Given the description of an element on the screen output the (x, y) to click on. 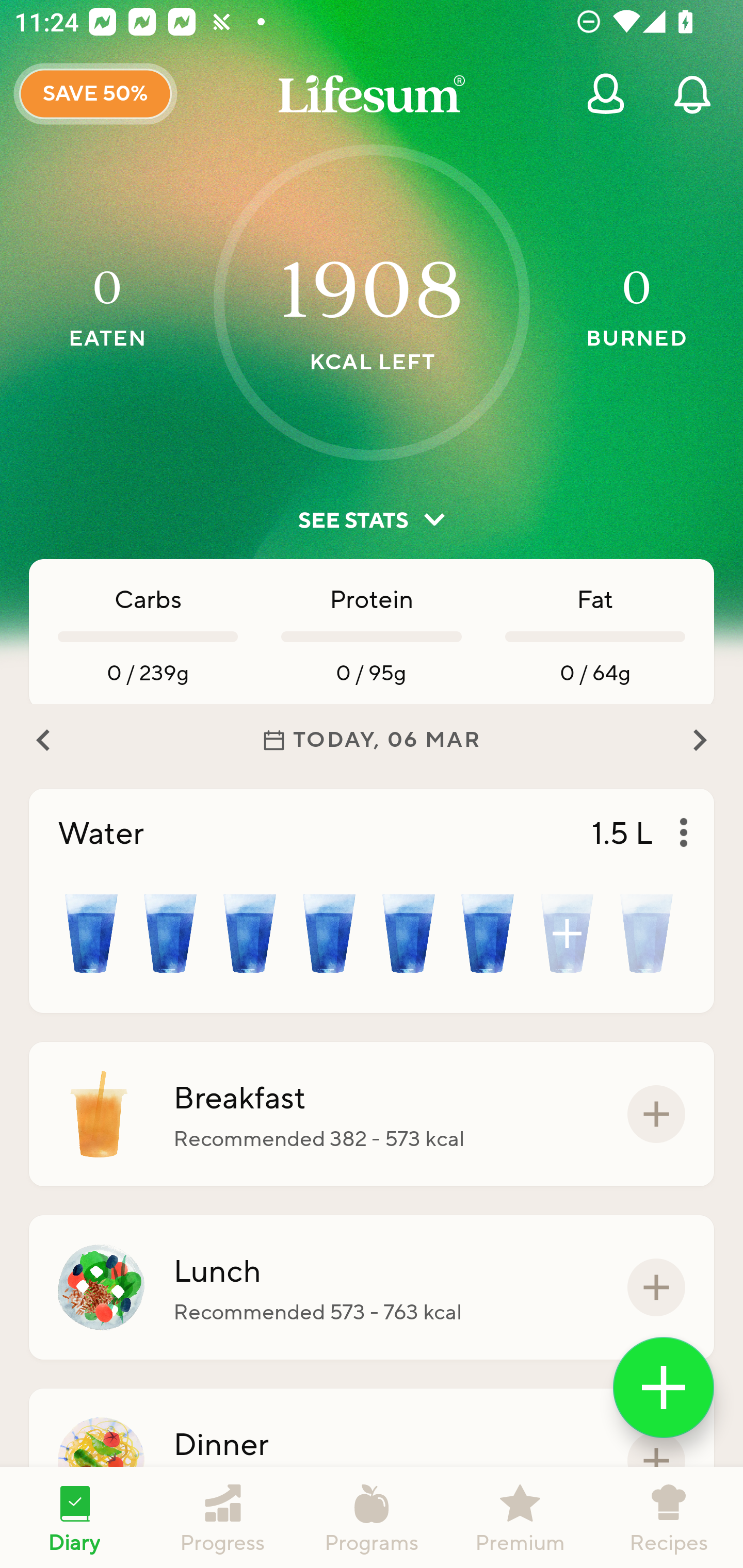
SEE STATS (371, 519)
TODAY, 06 MAR (371, 739)
Breakfast Recommended 382 - 573 kcal (371, 1113)
Lunch Recommended 573 - 763 kcal (371, 1287)
Dinner Recommended 573 - 763 kcal (371, 1461)
Progress (222, 1517)
Programs (371, 1517)
Premium (519, 1517)
Recipes (668, 1517)
